Given the description of an element on the screen output the (x, y) to click on. 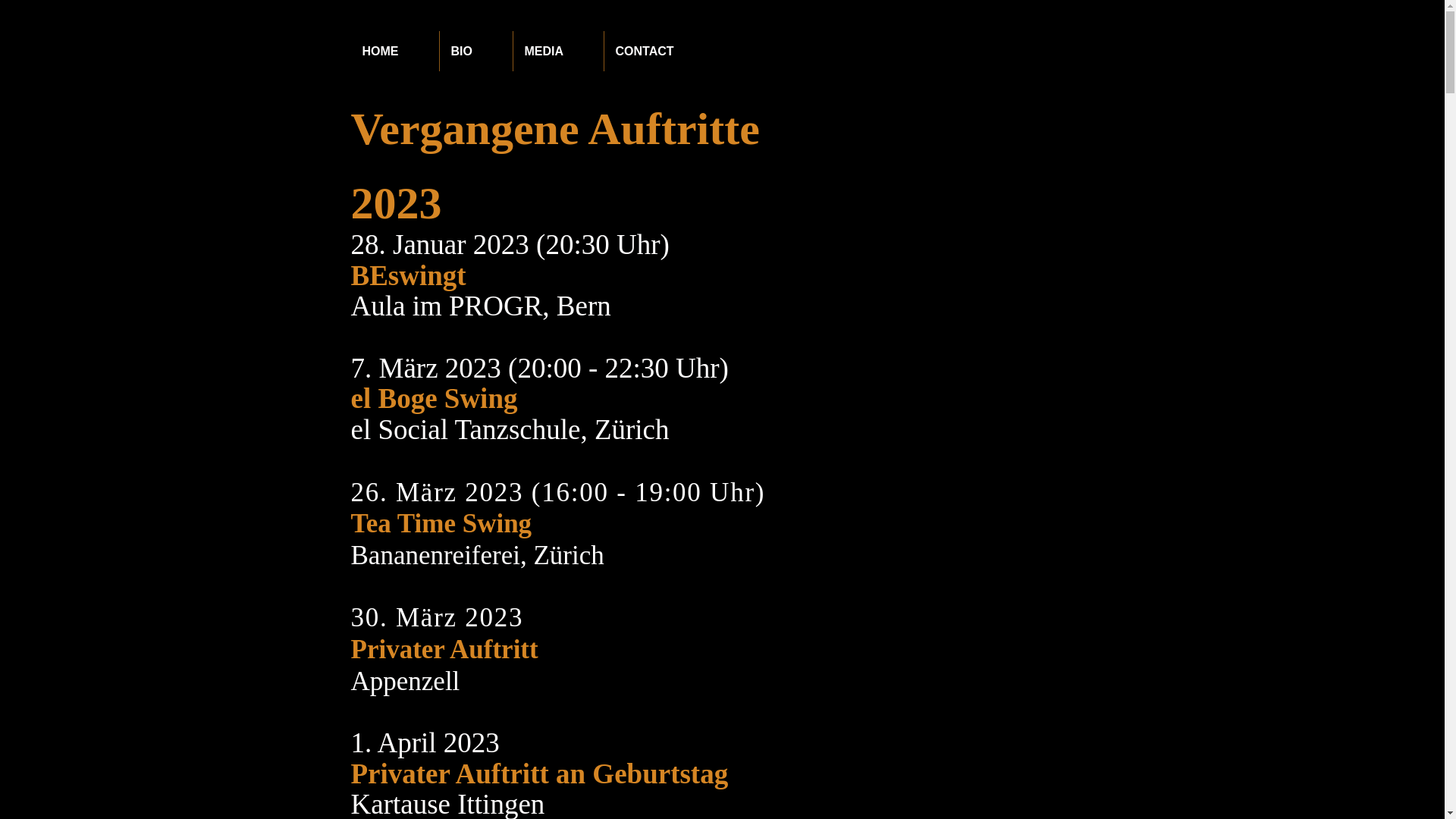
HOME Element type: text (394, 51)
MEDIA Element type: text (557, 51)
Aula im PROGR, Bern Element type: text (480, 305)
BEswingt Element type: text (407, 275)
BIO Element type: text (474, 51)
Tea Time Swing Element type: text (440, 523)
CONTACT Element type: text (658, 51)
el Boge Swing Element type: text (433, 398)
